Given the description of an element on the screen output the (x, y) to click on. 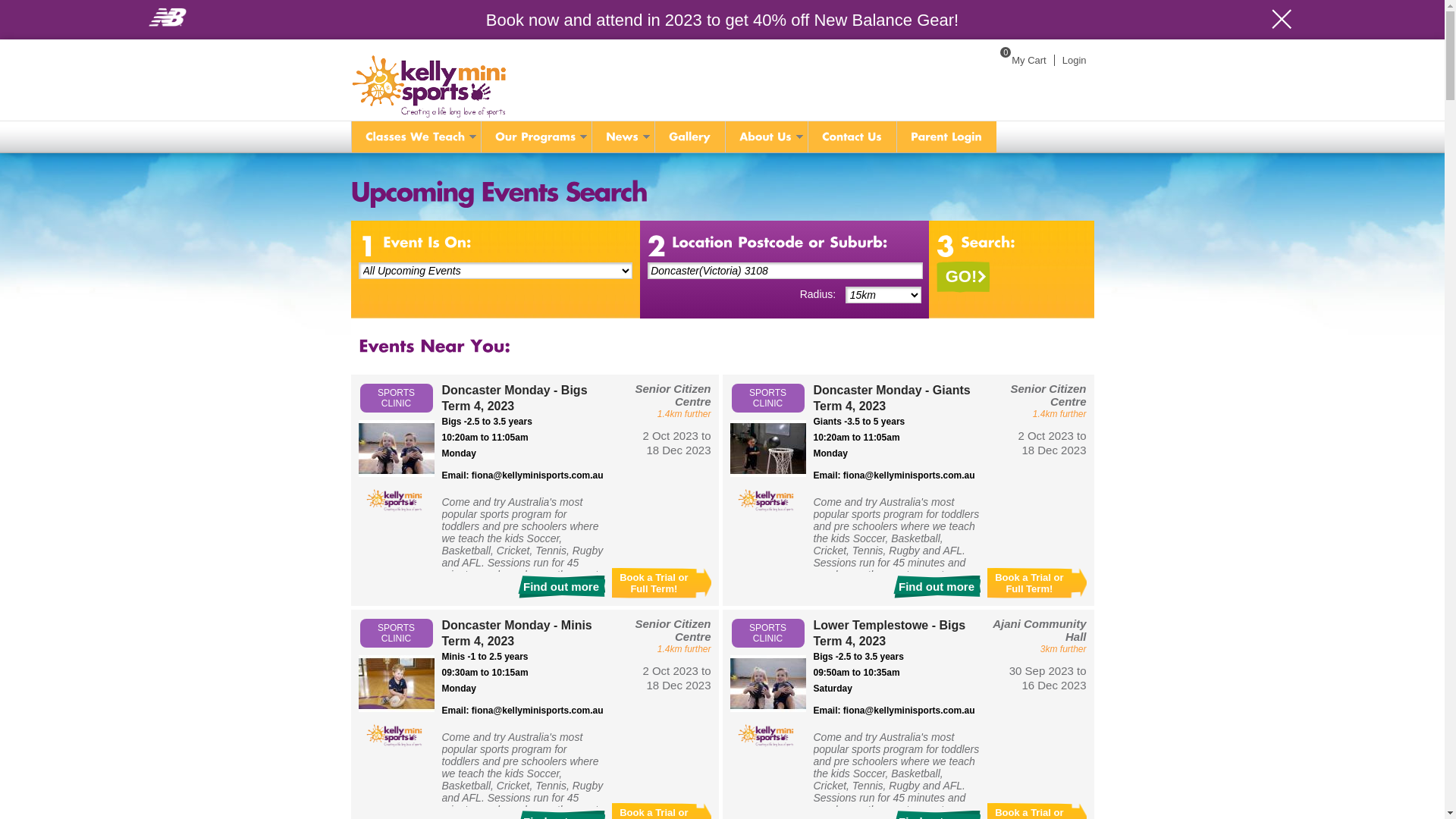
Senior Citizen Centre Element type: text (1047, 394)
fiona@kellyminisports.com.au Element type: text (909, 475)
Senior Citizen Centre Element type: text (672, 394)
Book a Trial or
Full Term! Element type: text (660, 582)
Login Element type: text (1074, 59)
Kelly Mini Sports Element type: hover (395, 500)
Kelly Mini Sports Element type: hover (767, 735)
fiona@kellyminisports.com.au Element type: text (537, 710)
Ajani Community Hall Element type: text (1038, 630)
Find out more Element type: text (560, 586)
Kelly Mini Sports Element type: hover (395, 735)
Find out more Element type: text (936, 586)
fiona@kellyminisports.com.au Element type: text (909, 710)
0
My Cart Element type: text (1018, 59)
GO! Element type: text (962, 276)
fiona@kellyminisports.com.au Element type: text (537, 475)
Kelly Mini Sports Element type: hover (767, 500)
Book a Trial or
Full Term! Element type: text (1036, 582)
Senior Citizen Centre Element type: text (672, 630)
